Given the description of an element on the screen output the (x, y) to click on. 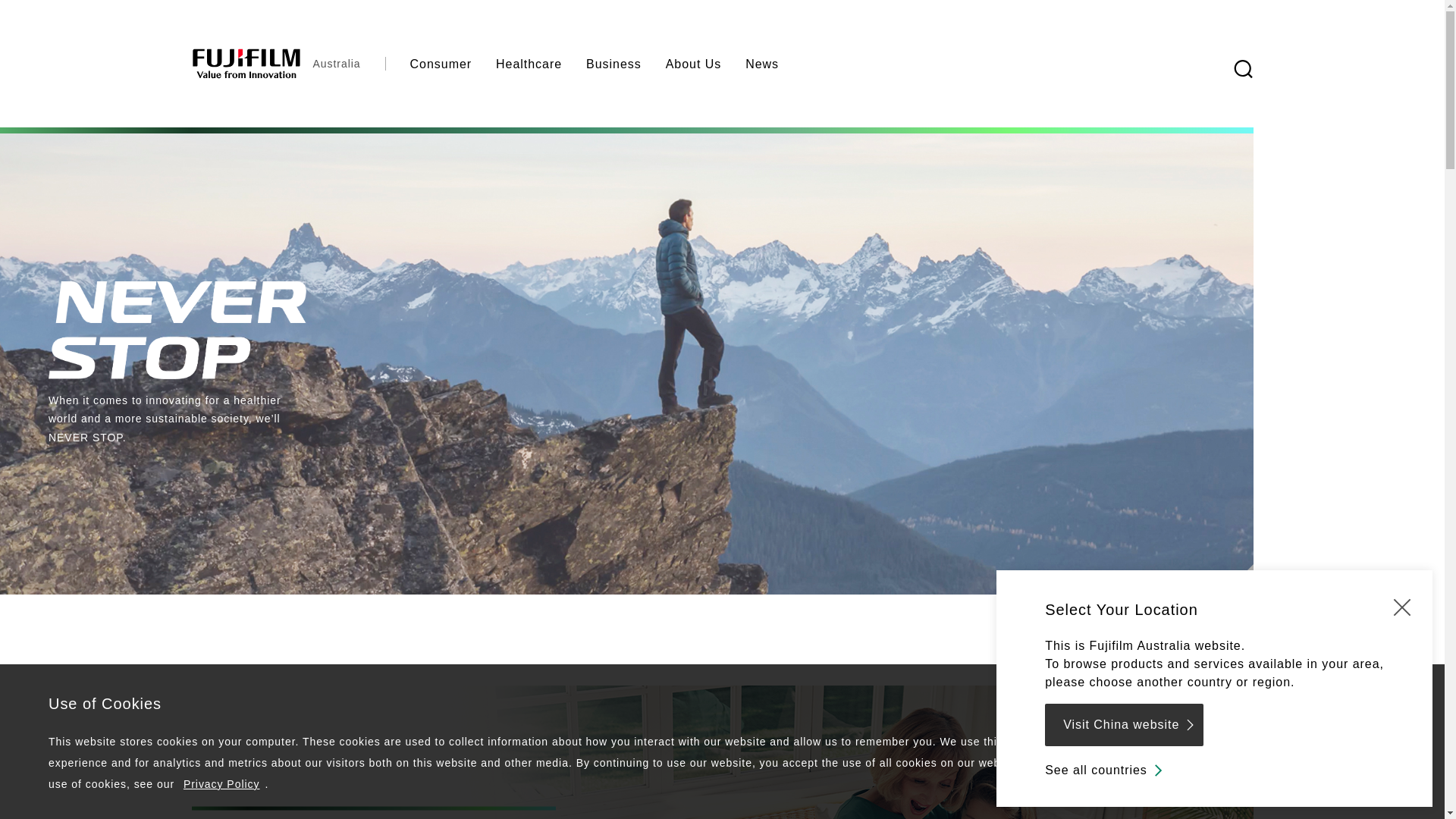
Business Element type: text (613, 63)
Visit China website Element type: text (1123, 724)
Consumer Element type: text (441, 63)
Healthcare Element type: text (528, 63)
Privacy Policy Element type: text (221, 784)
See all countries Element type: text (1104, 770)
News Element type: text (761, 63)
About Us Element type: text (693, 63)
